Given the description of an element on the screen output the (x, y) to click on. 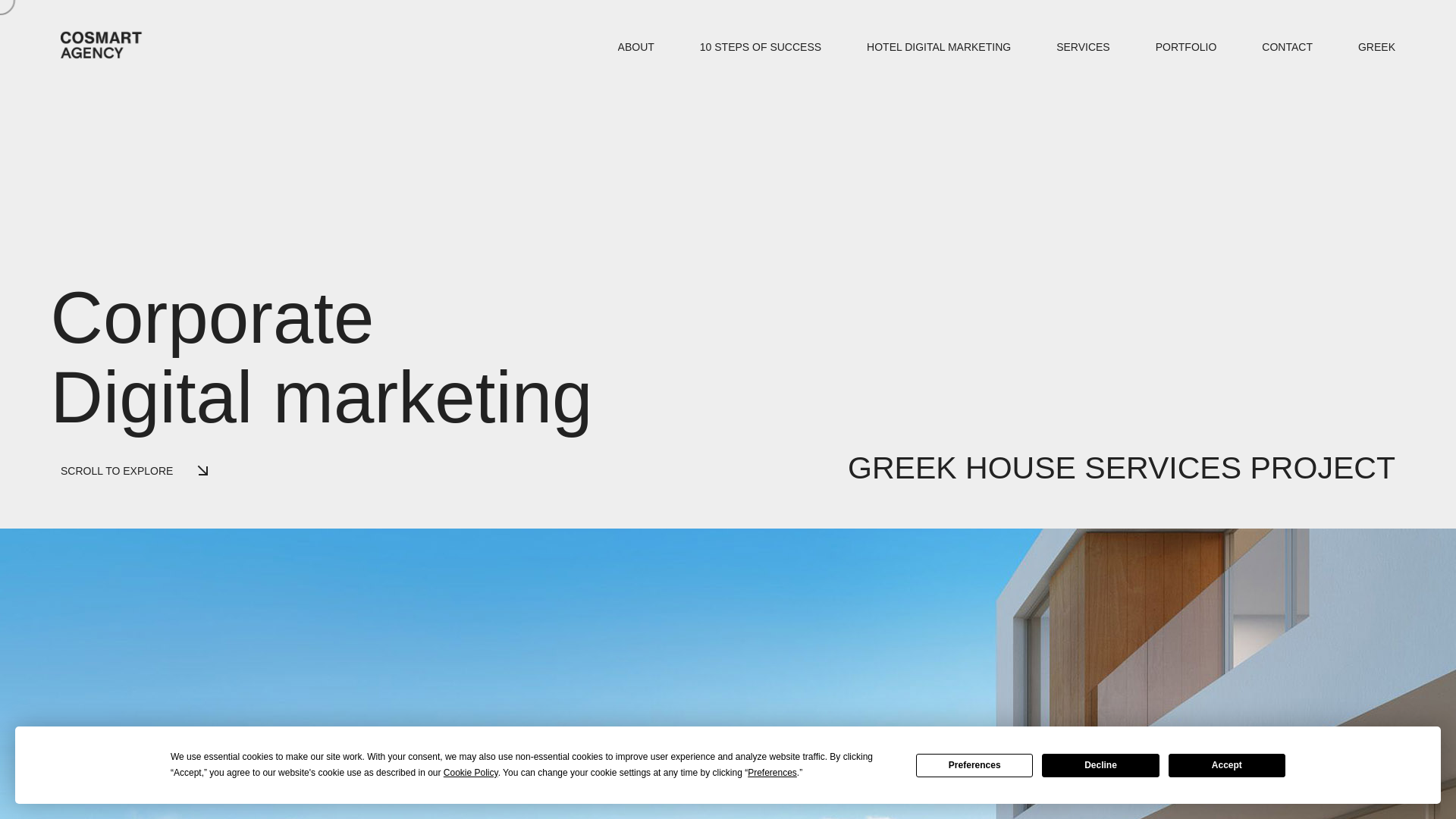
Accept (1227, 765)
PORTFOLIO (1186, 46)
CONTACT (1287, 46)
10 STEPS OF SUCCESS (760, 46)
Decline (1100, 765)
GREEK (1376, 46)
SCROLL TO EXPLORE (143, 470)
SERVICES (1083, 46)
ABOUT (635, 46)
HOTEL DIGITAL MARKETING (938, 46)
Preferences (973, 765)
